Given the description of an element on the screen output the (x, y) to click on. 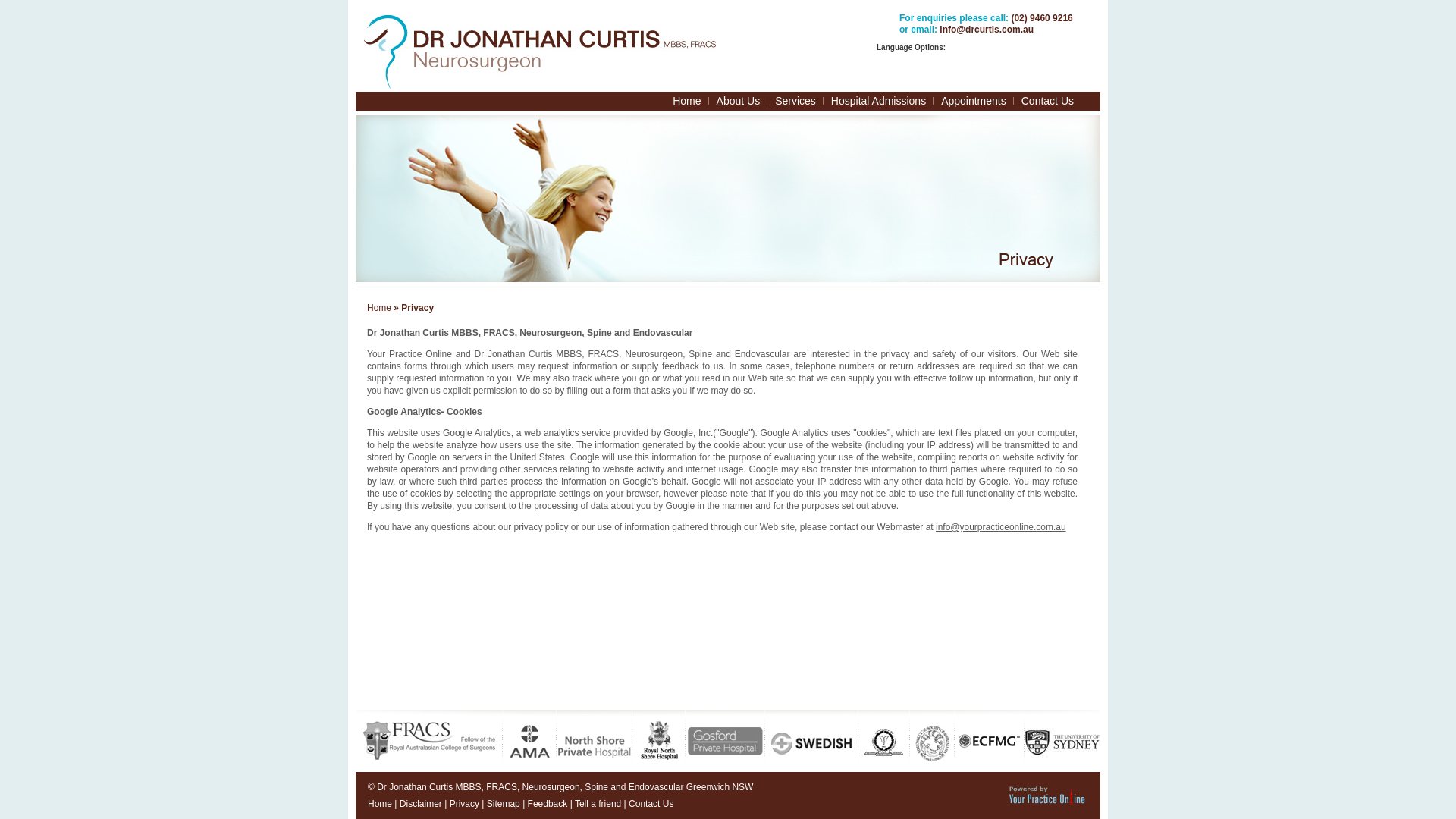
info@yourpracticeonline.com.au Element type: text (1000, 526)
Contact Us Element type: text (1047, 100)
Home Element type: text (686, 100)
Services Element type: text (795, 100)
Disclaimer Element type: text (420, 803)
Privacy Element type: text (464, 803)
About Us Element type: text (738, 100)
Tell a friend Element type: text (597, 803)
Feedback Element type: text (547, 803)
Sitemap Element type: text (503, 803)
For enquiries please call: (02) 9460 9216 Element type: text (986, 17)
info@drcurtis.com.au Element type: text (986, 29)
Appointments Element type: text (973, 100)
Contact Us Element type: text (650, 803)
Home Element type: text (379, 307)
Home Element type: text (379, 803)
Hospital Admissions Element type: text (878, 100)
